Given the description of an element on the screen output the (x, y) to click on. 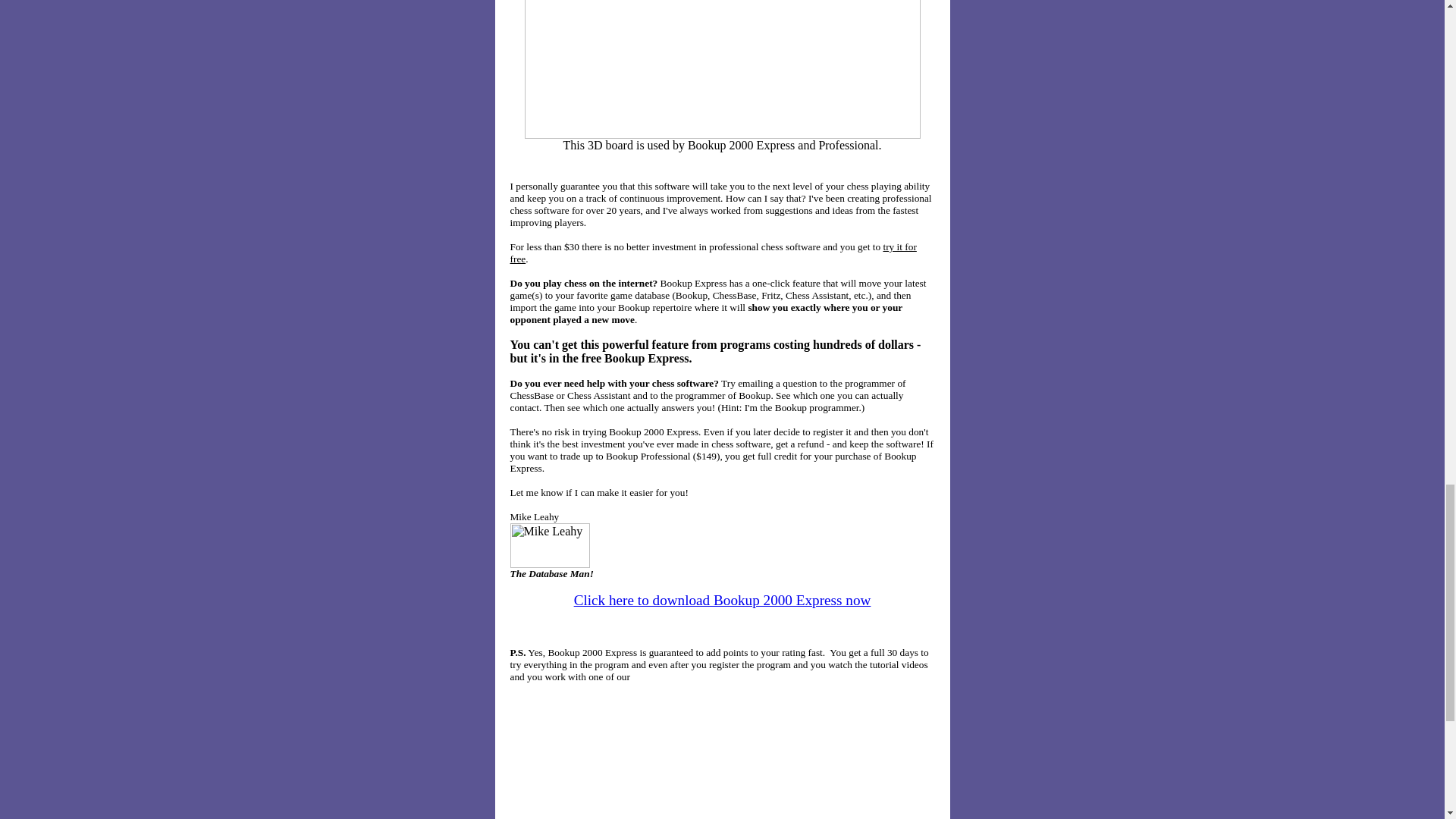
Click here to download Bookup 2000 Express now (721, 600)
